Given the description of an element on the screen output the (x, y) to click on. 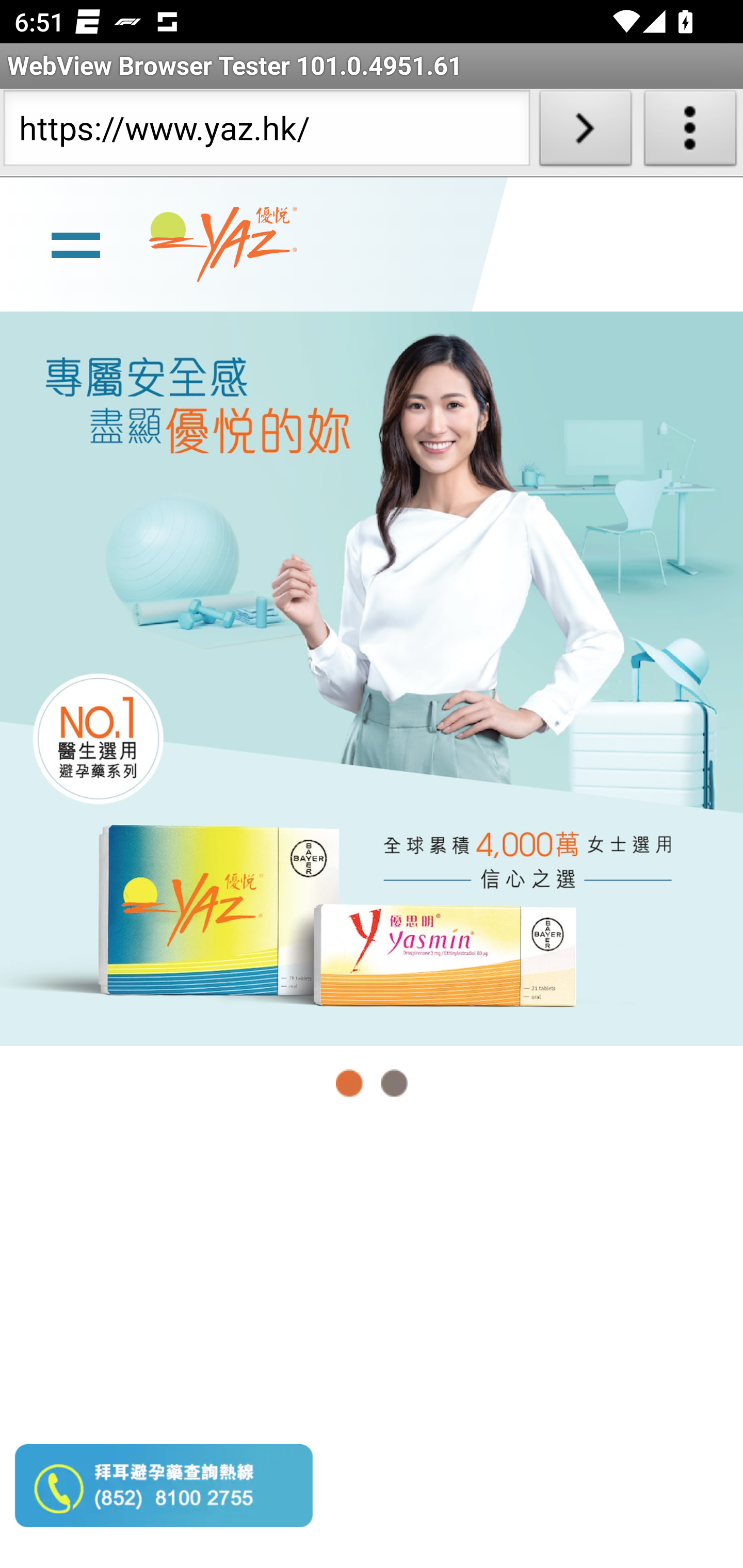
https://www.yaz.hk/ (266, 132)
Load URL (585, 132)
About WebView (690, 132)
www.yaz (222, 244)
line Toggle burger menu (75, 242)
slide 1 Alt tag Alt tag (371, 677)
1 of 2 (349, 1083)
2 of 2 (393, 1083)
